Given the description of an element on the screen output the (x, y) to click on. 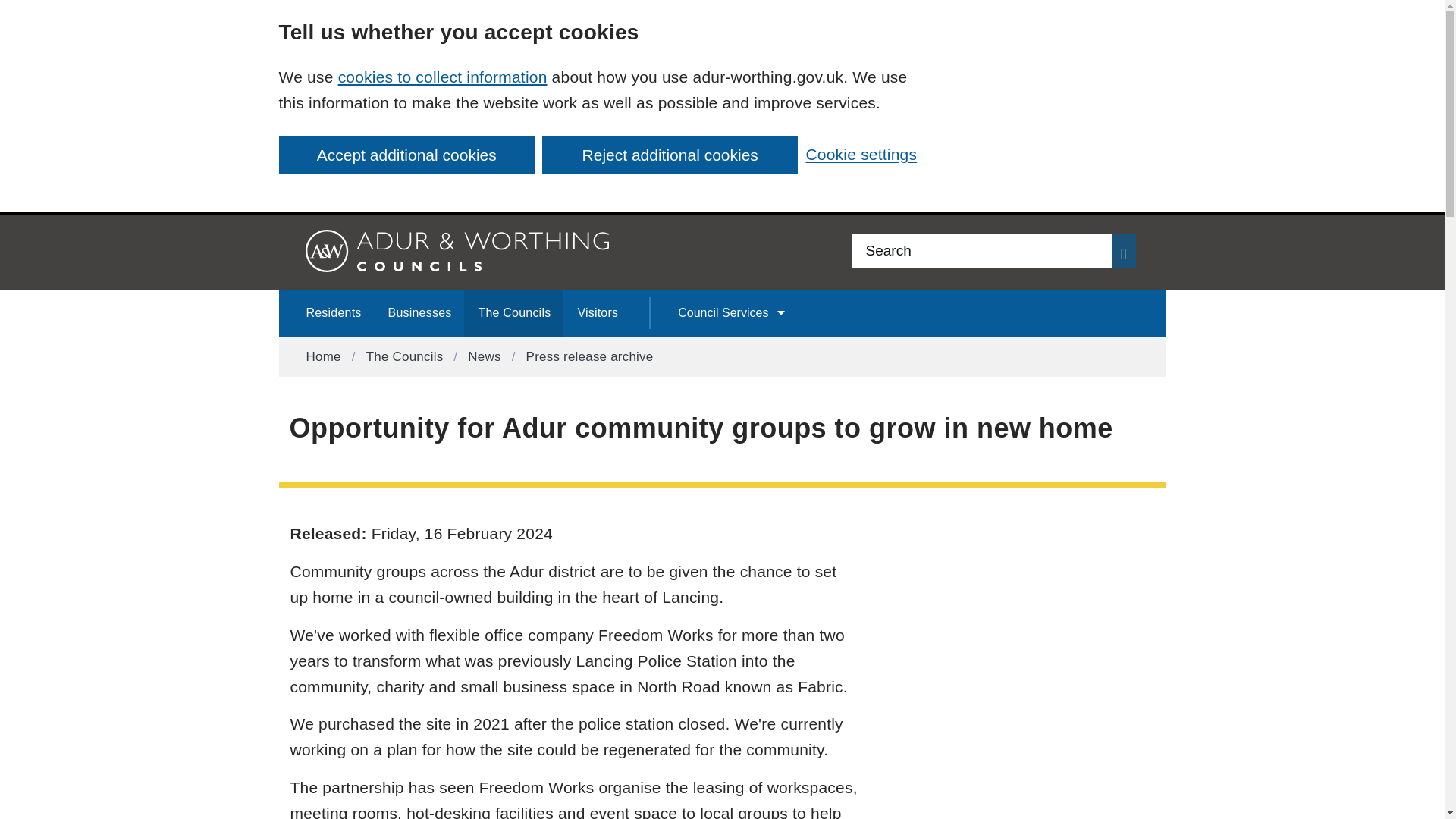
Search the site (980, 251)
Residents (333, 313)
Visitors (596, 313)
Press release archive (589, 356)
Cookie settings (861, 153)
Businesses (419, 313)
News (483, 356)
The Councils (405, 356)
Accept additional cookies (406, 154)
Council Services (730, 313)
The Councils (513, 313)
Reject additional cookies (669, 154)
cookies to collect information (442, 76)
Home (322, 356)
